Given the description of an element on the screen output the (x, y) to click on. 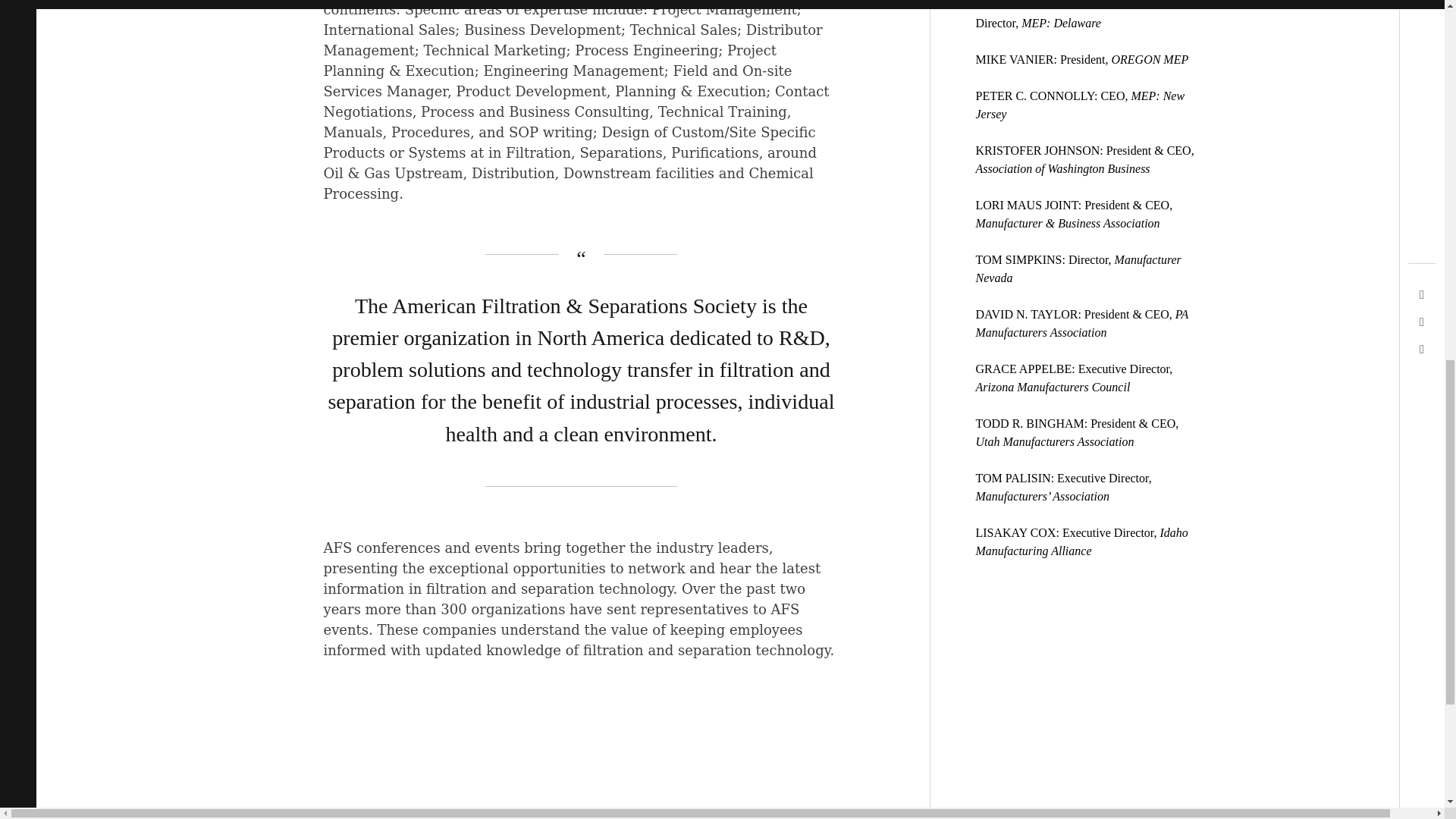
PETER C. CONNOLLY: CEO, MEP: New Jersey (1080, 104)
MIKE VANIER: President, OREGON MEP (1081, 59)
TOM SIMPKINS: Director, Manufacturer Nevada (1077, 268)
DR. RACHEL ANDERSON: Executive Director, MEP: Delaware (1072, 14)
YouTube video player (535, 755)
